Given the description of an element on the screen output the (x, y) to click on. 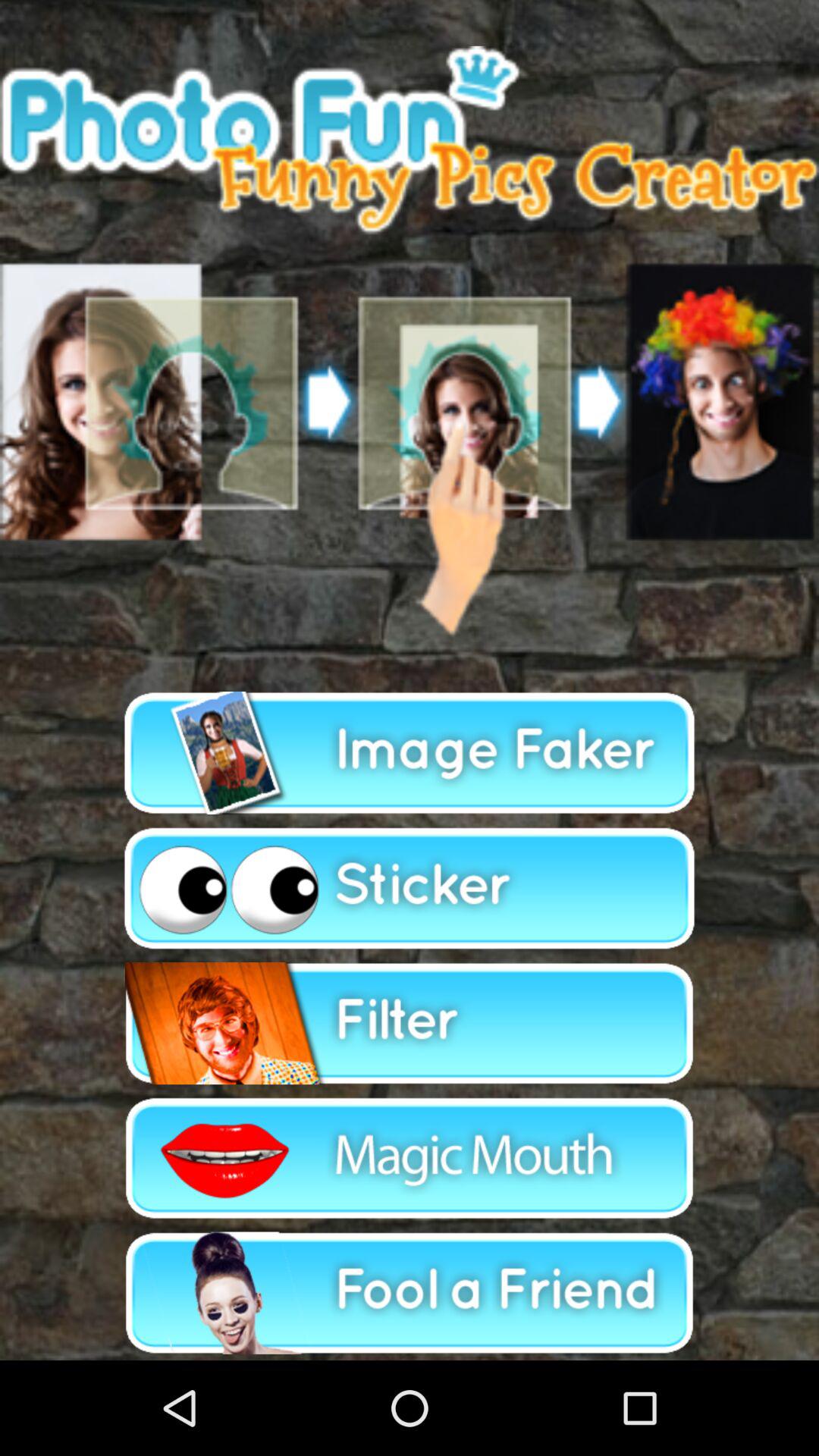
apply sticker (409, 887)
